Given the description of an element on the screen output the (x, y) to click on. 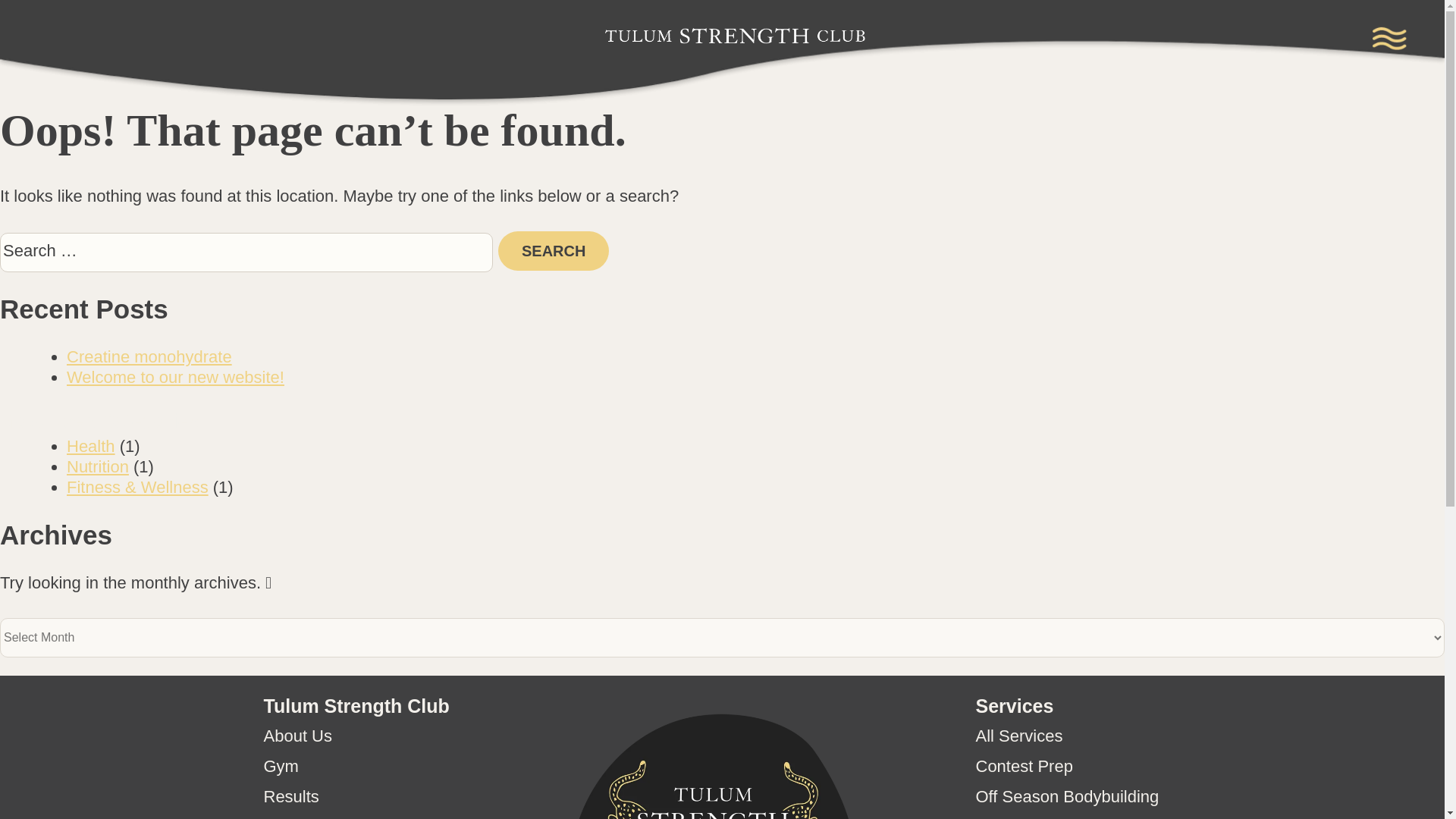
Nutrition (97, 466)
About Us (298, 735)
Search (552, 250)
Health (90, 445)
Gym (280, 765)
Tulum Strength Club (739, 131)
Search (552, 250)
All Services (1018, 735)
Creatine monohydrate (148, 356)
Results (290, 796)
